Given the description of an element on the screen output the (x, y) to click on. 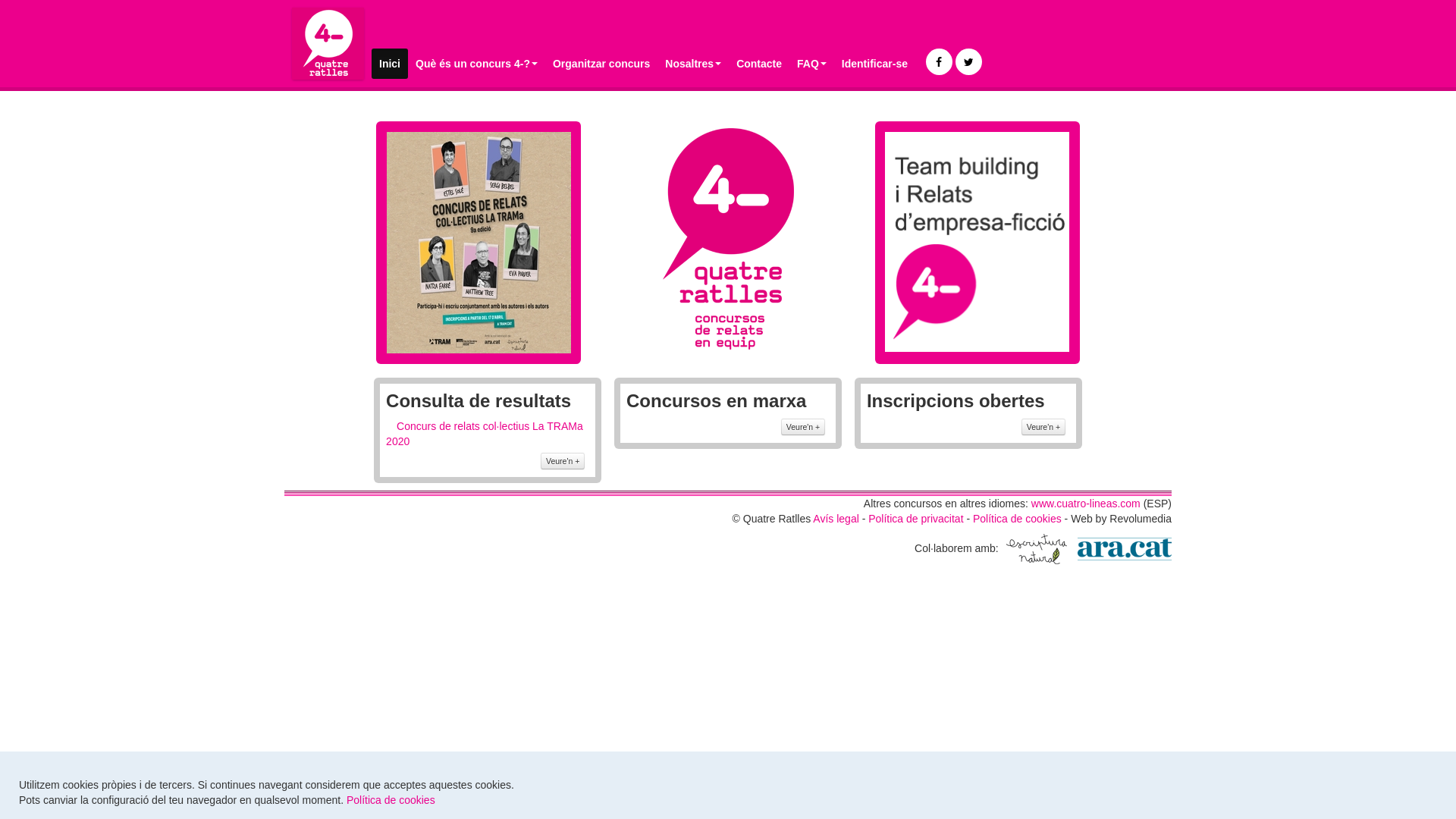
Nosaltres Element type: text (692, 63)
Organitzar concurs Element type: text (601, 63)
www.cuatro-lineas.com Element type: text (1085, 503)
Identificar-se Element type: text (874, 63)
Veure'n + Element type: text (803, 426)
FAQ Element type: text (811, 63)
Veure'n + Element type: text (562, 460)
Veure'n + Element type: text (1043, 426)
Revolumedia Element type: text (1140, 518)
Inici Element type: text (389, 63)
Contacte Element type: text (758, 63)
